Given the description of an element on the screen output the (x, y) to click on. 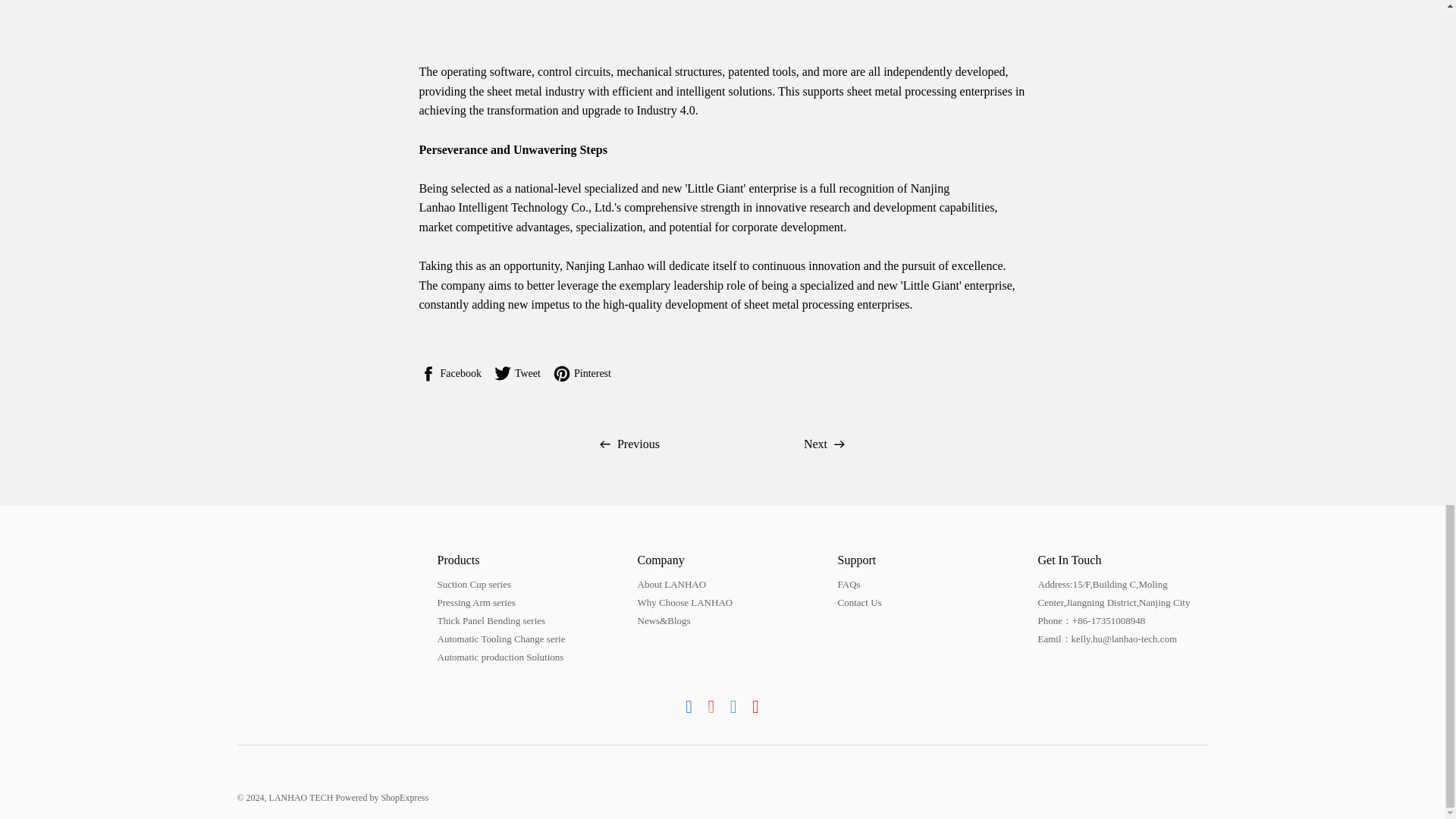
Suction Cup series (473, 583)
Previous (632, 444)
Pressing Arm series (475, 602)
Next (821, 444)
